Given the description of an element on the screen output the (x, y) to click on. 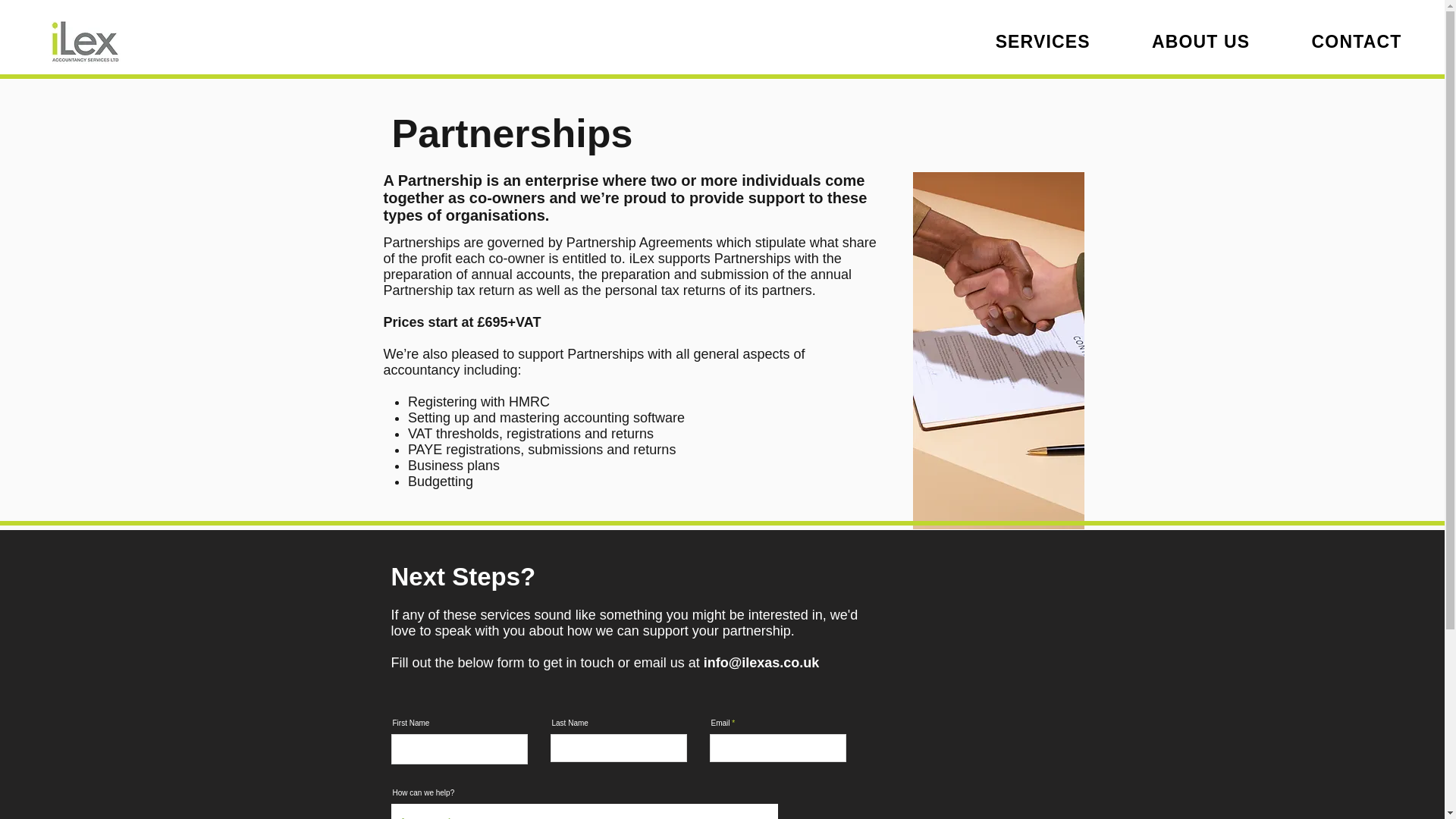
SERVICES (1043, 41)
CONTACT (1356, 41)
ABOUT US (1201, 41)
